Given the description of an element on the screen output the (x, y) to click on. 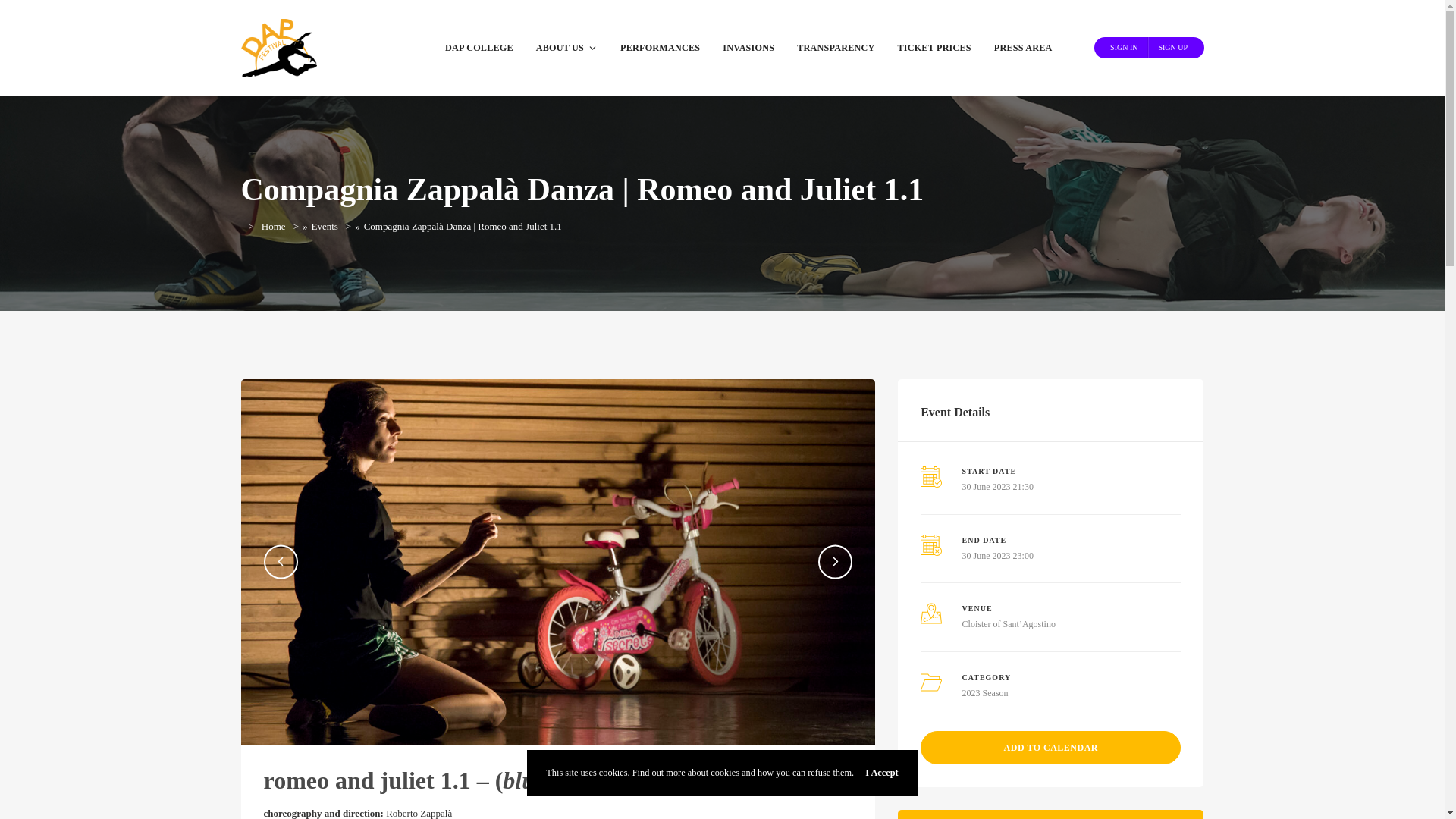
ABOUT US (566, 47)
SIGN IN (1123, 47)
Events (324, 226)
DAP COLLEGE (478, 47)
PRESS AREA (1023, 47)
TRANSPARENCY (835, 47)
SIGN UP (1172, 47)
PERFORMANCES (659, 47)
Home (273, 226)
INVASIONS (748, 47)
TICKET PRICES (933, 47)
